Given the description of an element on the screen output the (x, y) to click on. 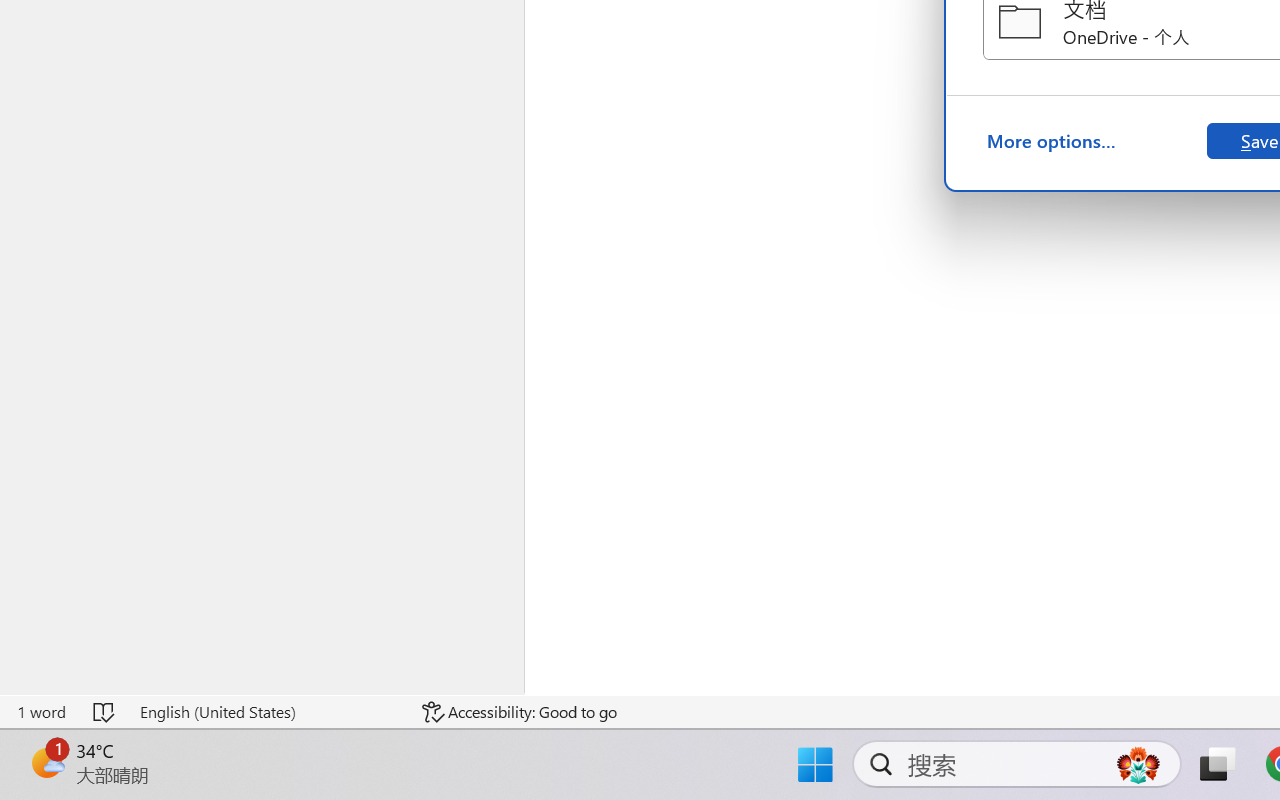
Class: Image (46, 743)
AutomationID: BadgeAnchorLargeTicker (46, 762)
Word Count 1 word (41, 712)
Spelling and Grammar Check No Errors (105, 712)
Language English (United States) (267, 712)
AutomationID: DynamicSearchBoxGleamImage (1138, 764)
Accessibility Checker Accessibility: Good to go (519, 712)
